Given the description of an element on the screen output the (x, y) to click on. 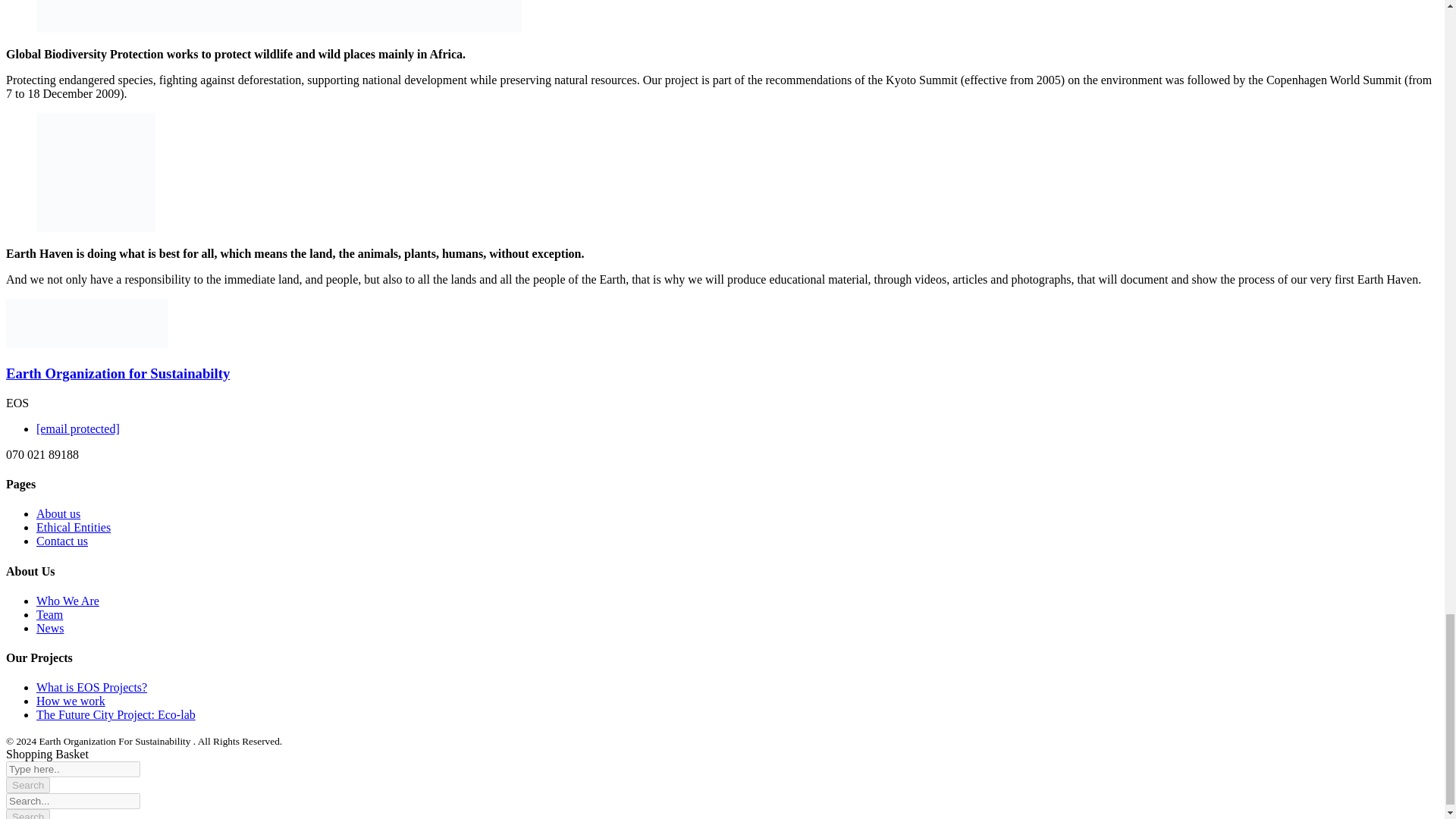
Who We Are (67, 600)
Ethical Entities (73, 526)
Earth Organization for Sustainabilty (117, 373)
Team (49, 614)
How we work (70, 700)
Contact us (61, 540)
Search (27, 785)
News (50, 627)
Search (27, 785)
What is EOS Projects? (91, 686)
Earth Organization for Sustainabilty (127, 343)
Earth Organization for Sustainabilty (46, 343)
About us (58, 513)
Earth Organization for Sustainabilty (117, 373)
Search (27, 785)
